Given the description of an element on the screen output the (x, y) to click on. 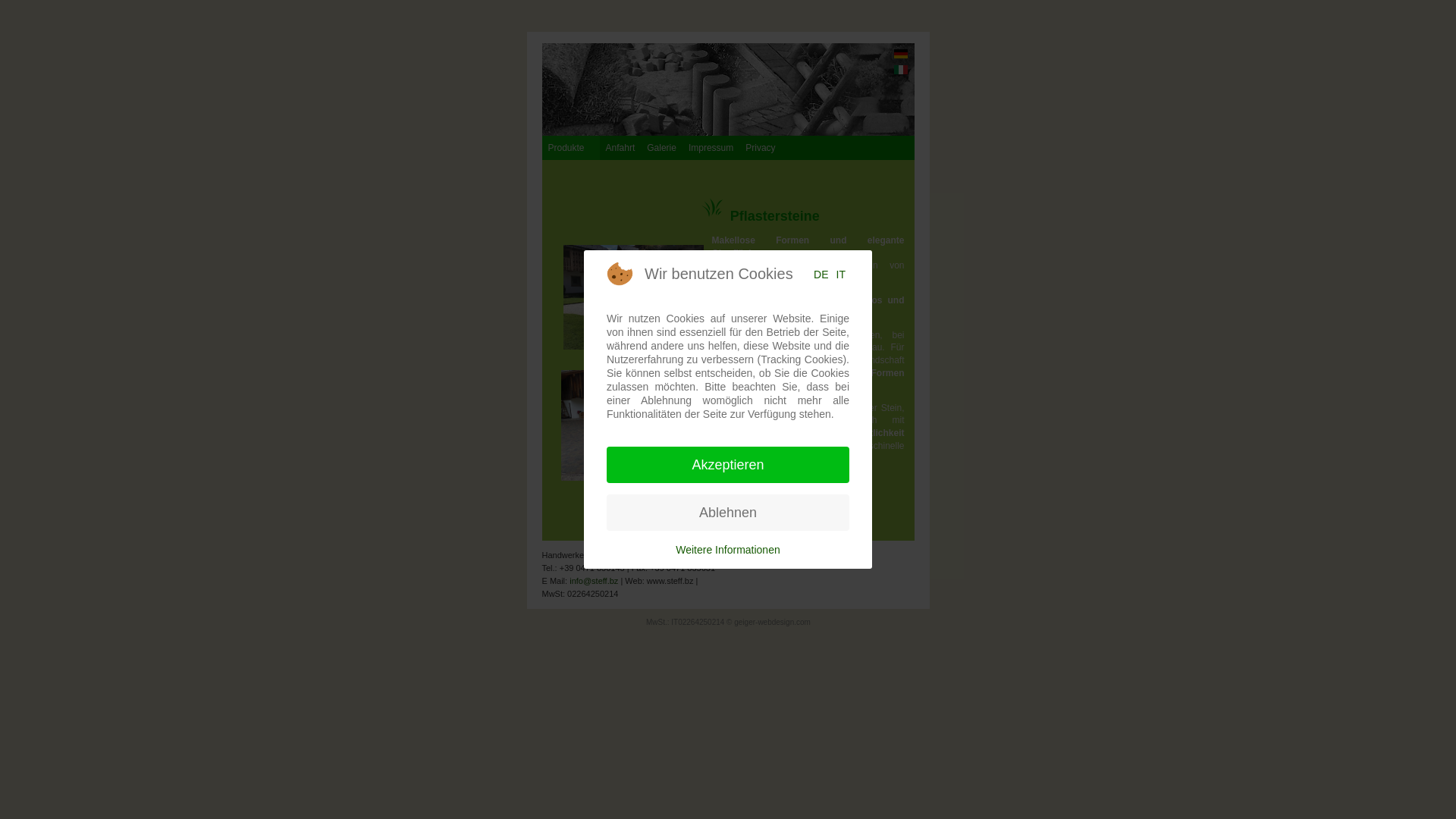
Italiano Element type: hover (899, 69)
Impressum Element type: text (710, 147)
info@steff.bz Element type: text (593, 580)
Ablehnen Element type: text (727, 512)
Weitere Informationen Element type: text (727, 549)
Deutsch Element type: hover (899, 53)
Anfahrt Element type: text (620, 147)
Akzeptieren Element type: text (727, 464)
Privacy Element type: text (760, 147)
DE Element type: text (820, 274)
Produkte Element type: text (570, 147)
Galerie Element type: text (661, 147)
IT Element type: text (840, 274)
geiger-webdesign.com Element type: text (772, 622)
